Given the description of an element on the screen output the (x, y) to click on. 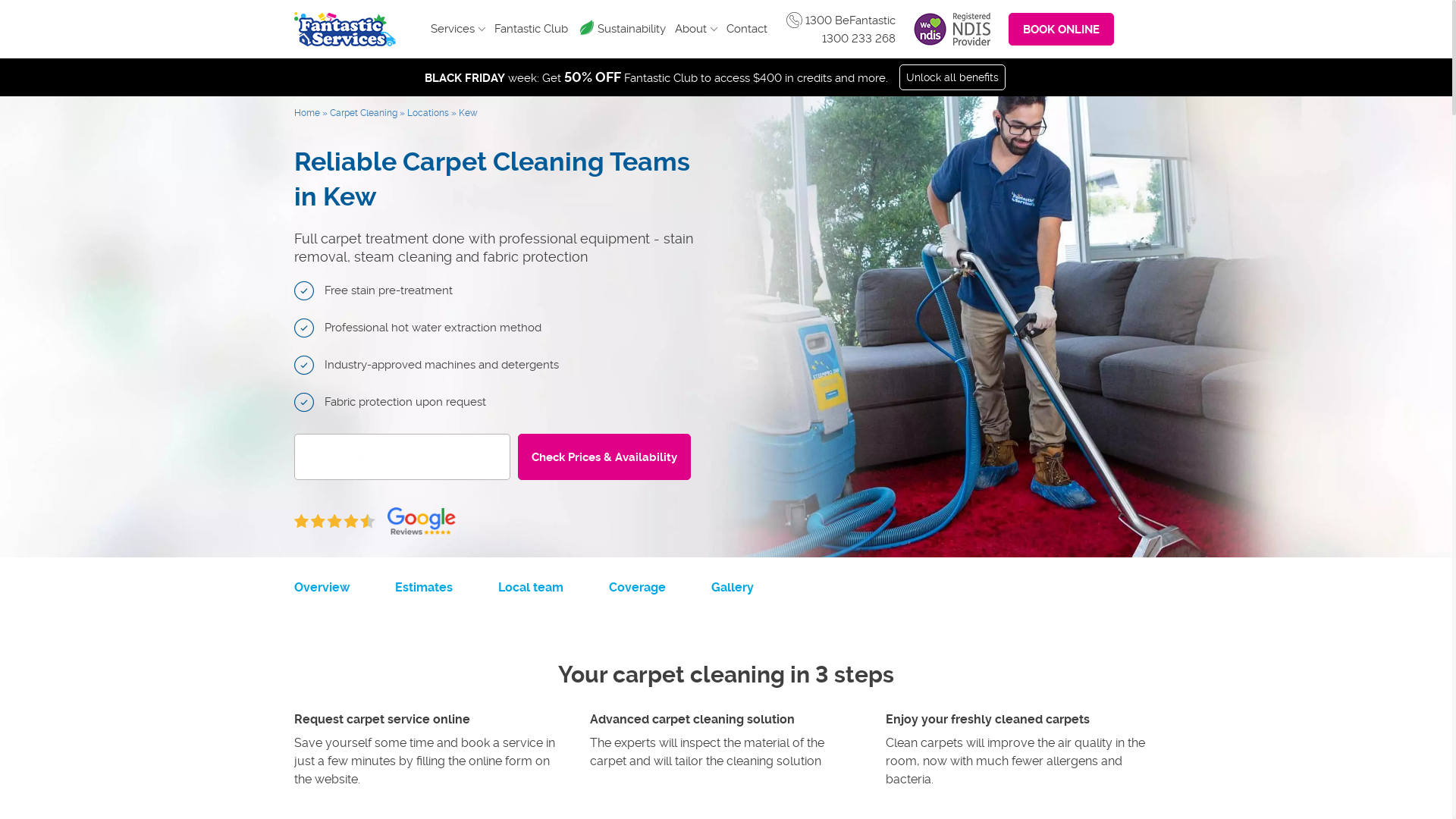
Carpet Cleaning Element type: text (362, 112)
Unlock all benefits Element type: text (952, 77)
BOOK ONLINE Element type: text (1060, 28)
Check Prices & Availability Element type: text (603, 456)
Fantastic Services Element type: hover (344, 29)
Services Element type: text (457, 29)
Home Element type: text (307, 112)
1300 233 268 Element type: text (858, 38)
Locations Element type: text (427, 112)
About Element type: text (695, 29)
Local team Element type: text (529, 587)
Contact Element type: text (746, 29)
Overview Element type: text (321, 587)
Kew Element type: text (467, 112)
Estimates Element type: text (422, 587)
Fantastic Club Element type: text (530, 29)
Coverage Element type: text (636, 587)
Sustainability Element type: text (631, 29)
Gallery Element type: text (732, 587)
